Given the description of an element on the screen output the (x, y) to click on. 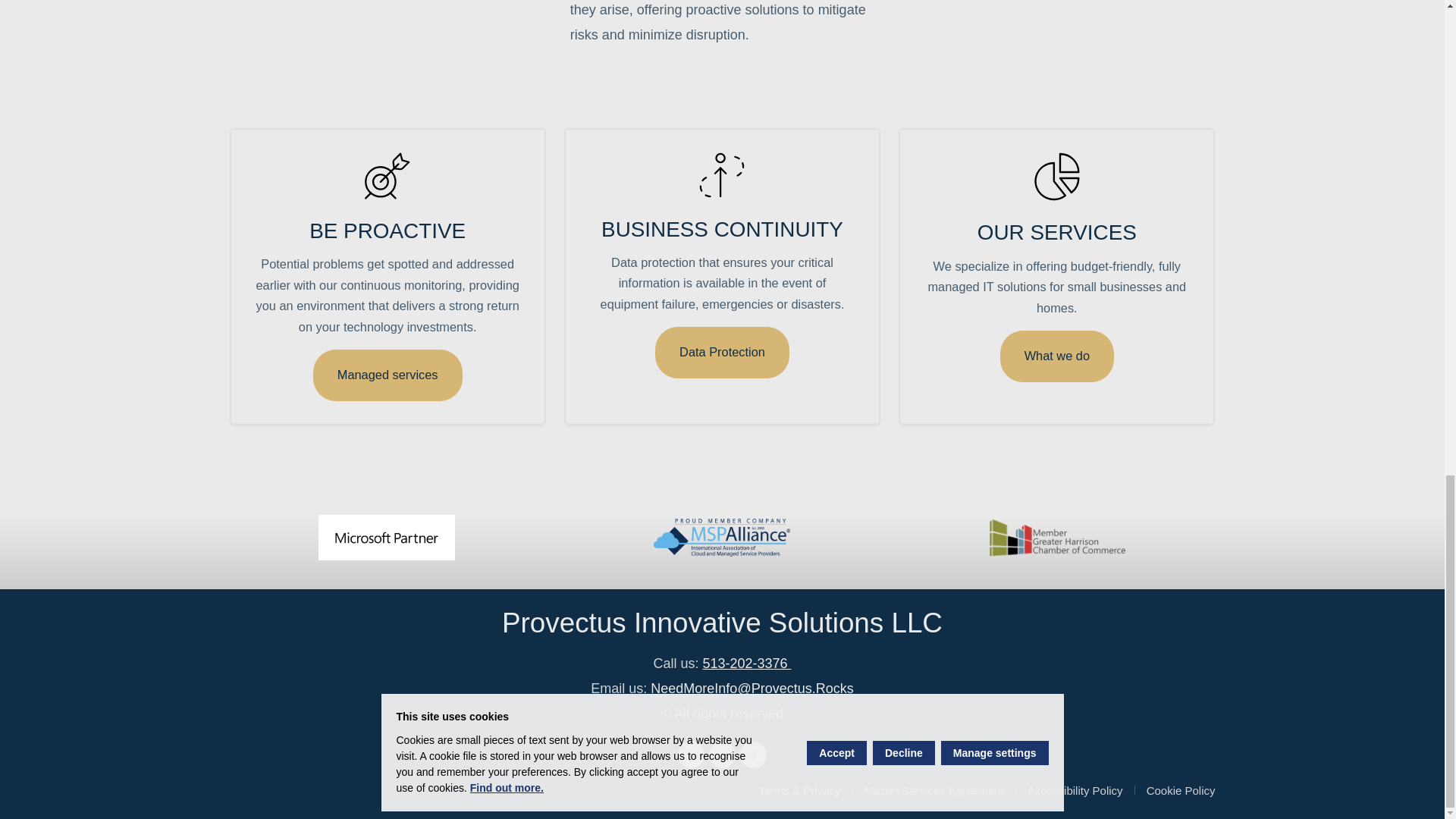
Cookie Policy (1181, 791)
Master Services Agreement (940, 791)
Data Protection (722, 352)
What we do (1056, 356)
Managed services (388, 375)
Provectus Innovative Solutions LLC (722, 622)
513-202-3376  (745, 663)
Microsoft Partner (386, 537)
MSPAlliance Member (721, 537)
Accessibility Policy (1081, 791)
